Given the description of an element on the screen output the (x, y) to click on. 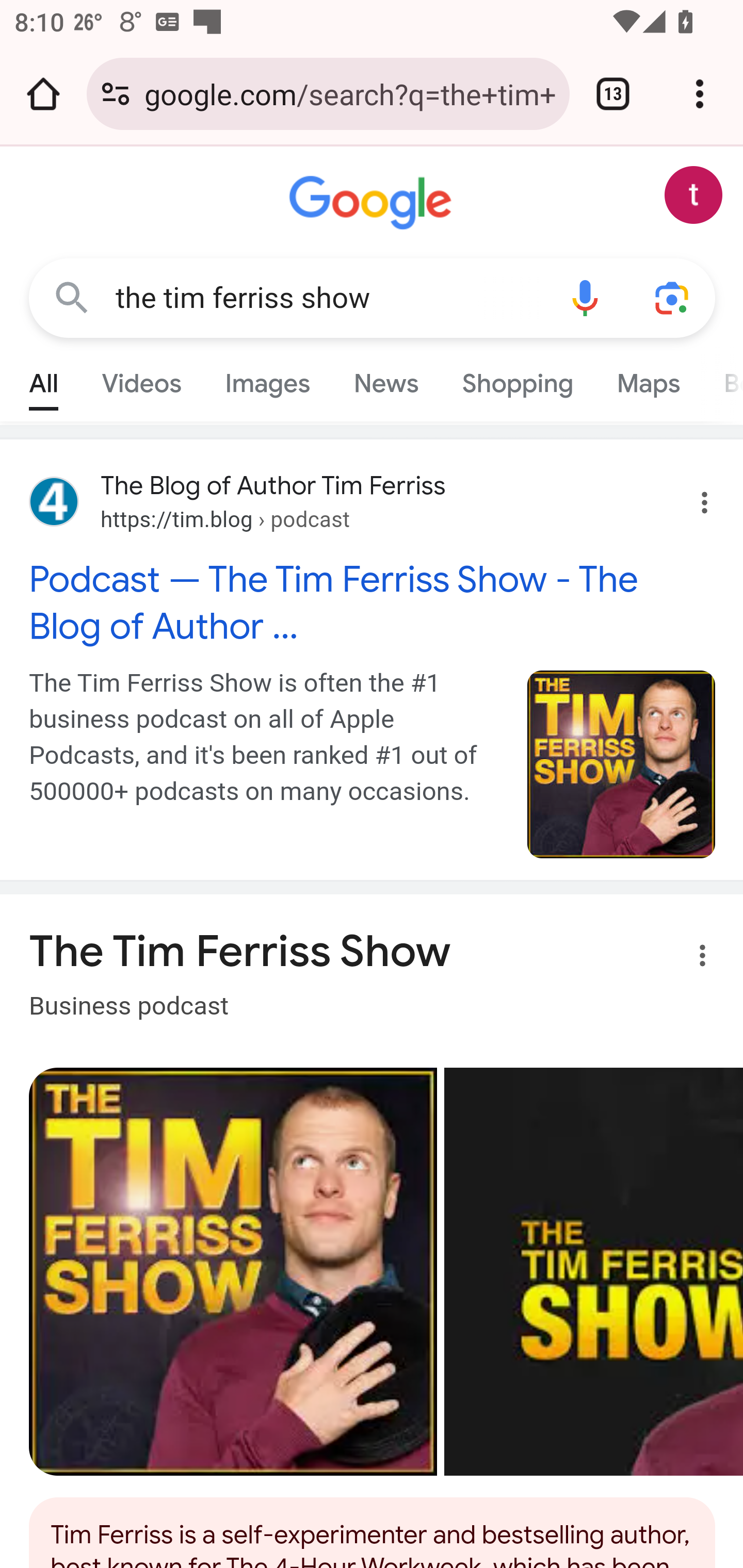
Open the home page (43, 93)
Connection is secure (115, 93)
Switch or close tabs (612, 93)
Customize and control Google Chrome (699, 93)
Google (372, 203)
Google Search (71, 296)
Search using your camera or photos (672, 296)
the tim ferriss show (328, 297)
Videos (141, 378)
Images (267, 378)
News (385, 378)
Shopping (516, 378)
Maps (647, 378)
?amp (621, 764)
More options (690, 959)
